Given the description of an element on the screen output the (x, y) to click on. 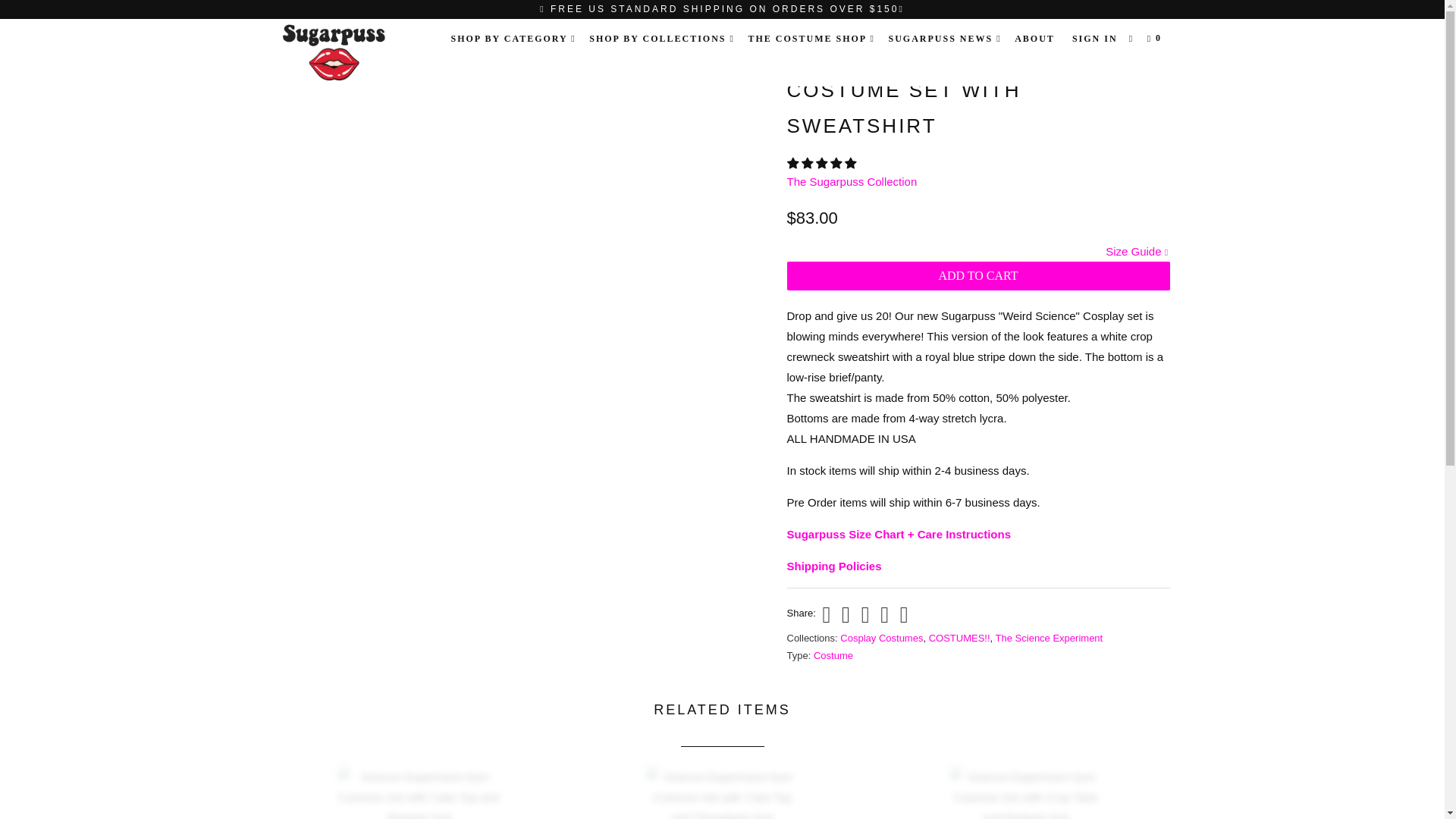
The Science Experiment (1049, 637)
Costume (833, 655)
The Sugarpuss Collection (352, 52)
My Account  (1094, 38)
The Sugarpuss Collection (852, 181)
Cosplay Costumes (881, 637)
COSTUMES!! (959, 637)
